Given the description of an element on the screen output the (x, y) to click on. 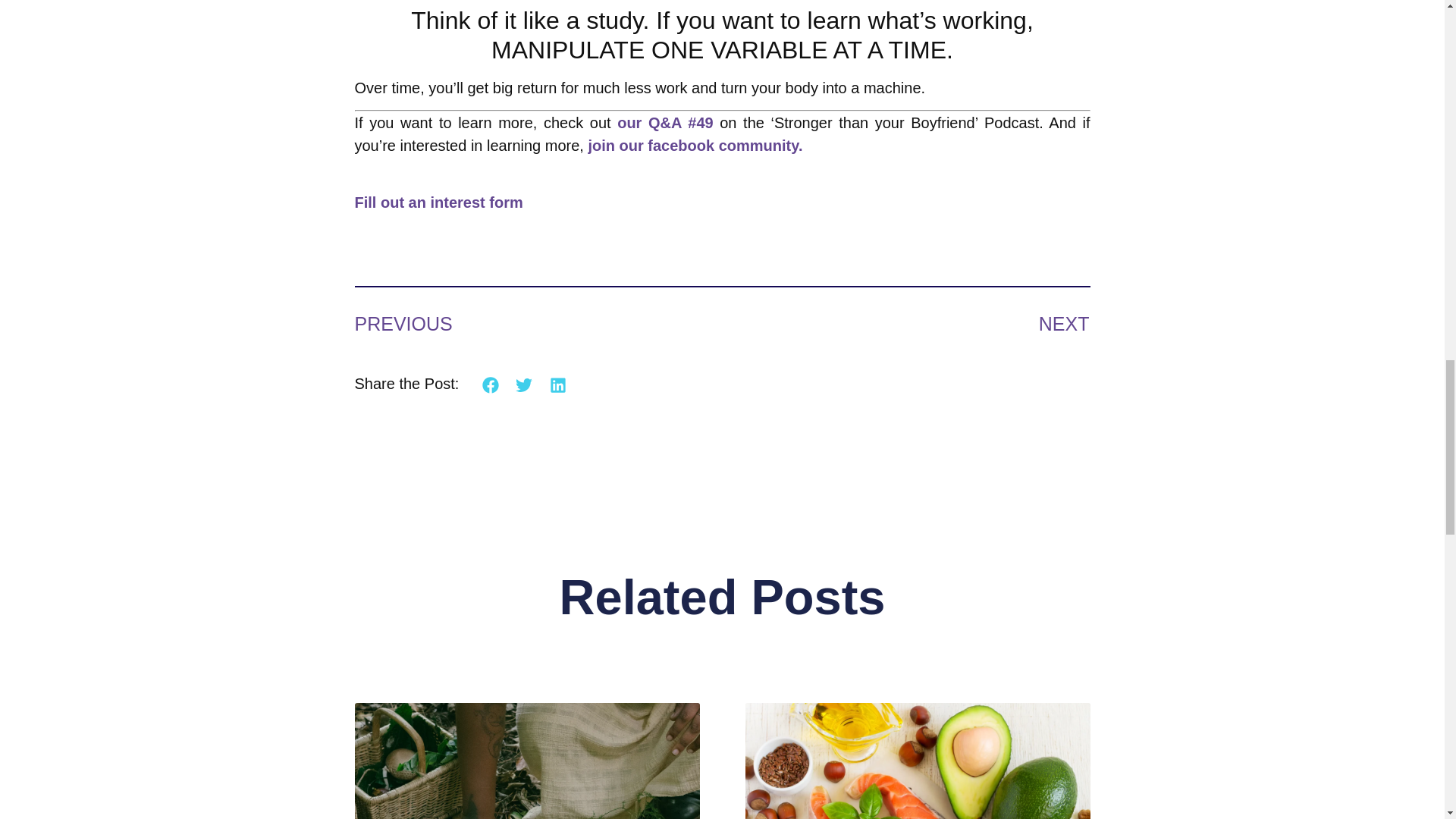
NEXT (905, 324)
join our facebook community. (695, 145)
Fill out an interest form (438, 213)
PREVIOUS (538, 324)
